Given the description of an element on the screen output the (x, y) to click on. 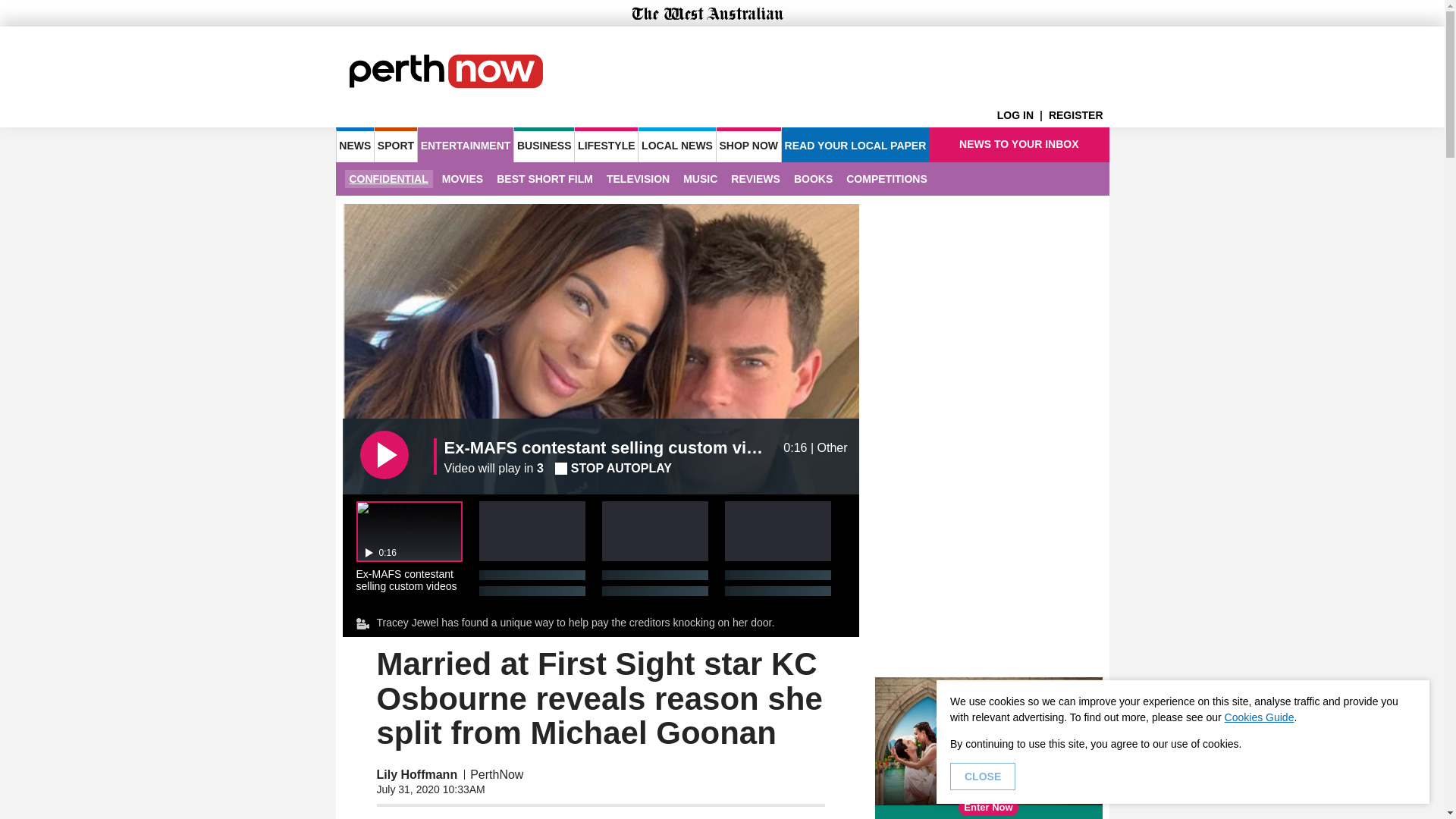
Ex-MAFS contestant selling custom videos (608, 447)
SPORT (395, 144)
REGISTER (1078, 115)
NEWS (354, 144)
LOG IN (1022, 115)
Play Video (383, 454)
ENTERTAINMENT (465, 144)
Click to play Ex-MAFS contestant selling custom videos (409, 546)
